Given the description of an element on the screen output the (x, y) to click on. 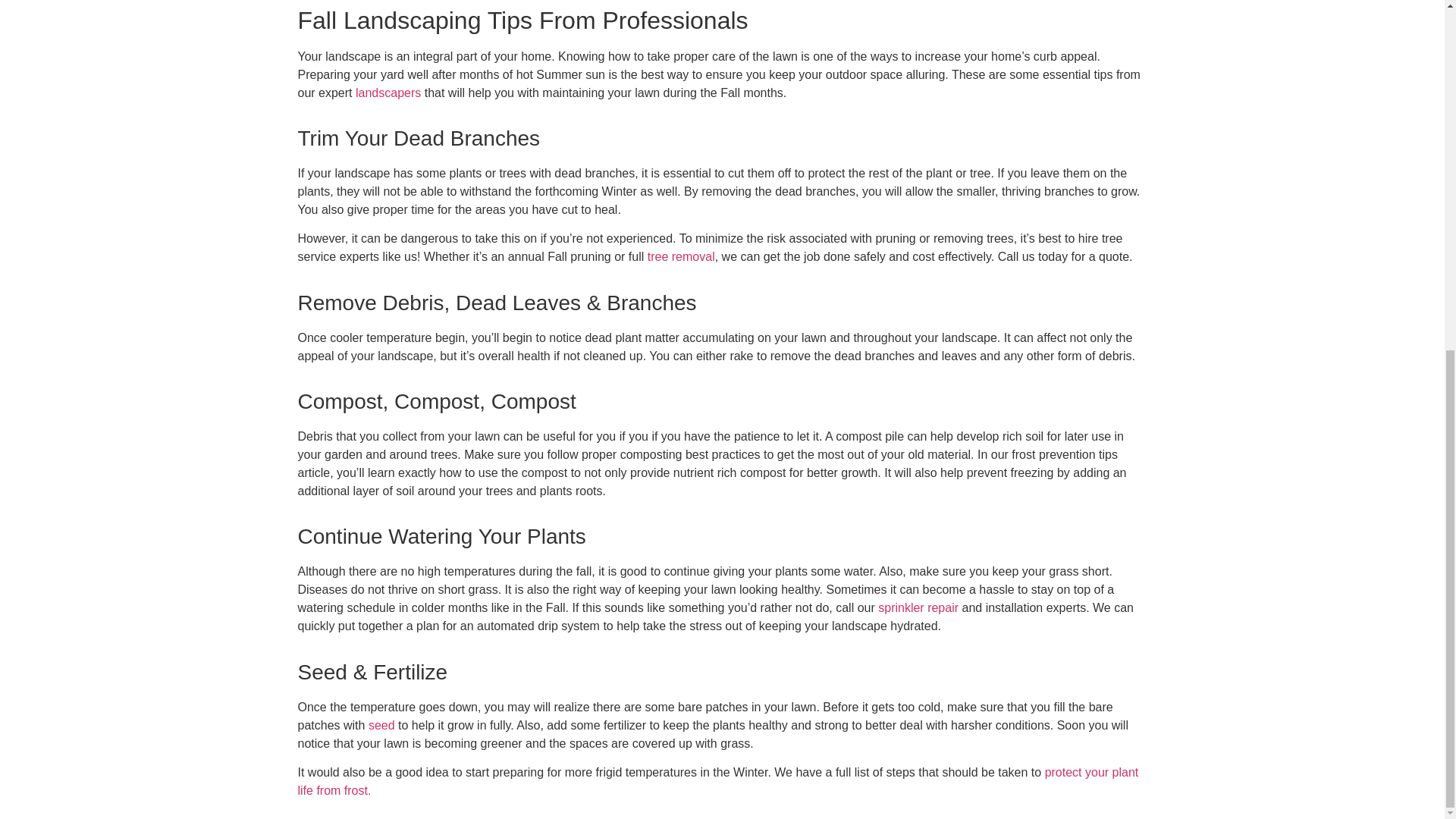
landscapers (387, 91)
sprinkler repair (917, 607)
seed (381, 725)
protect your plant life from frost. (717, 780)
tree removal (680, 256)
